Given the description of an element on the screen output the (x, y) to click on. 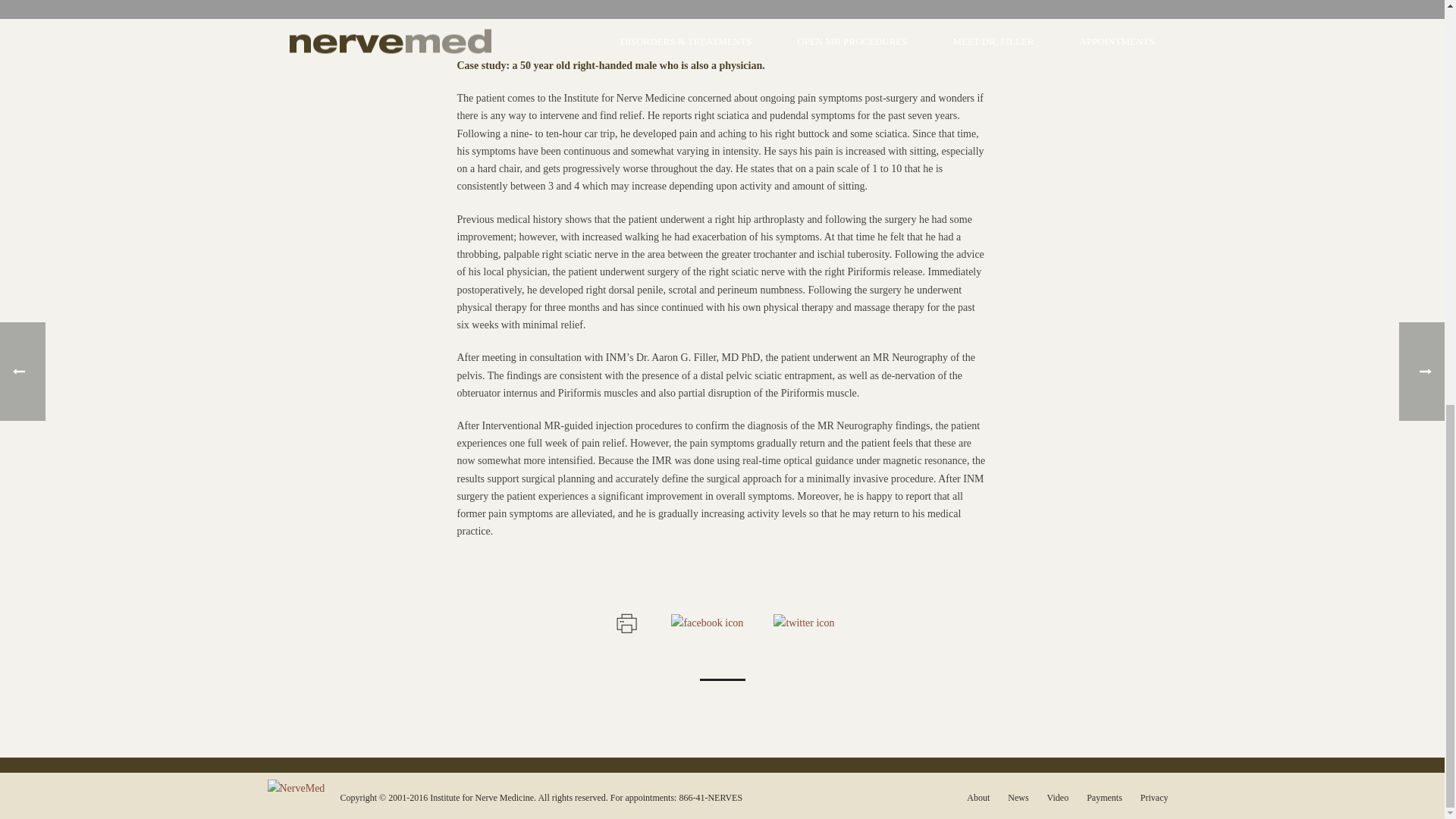
About (978, 797)
Video (1057, 797)
News (1017, 797)
Payments (1104, 797)
Print (625, 621)
NerveMed (295, 787)
Privacy (1154, 797)
